Given the description of an element on the screen output the (x, y) to click on. 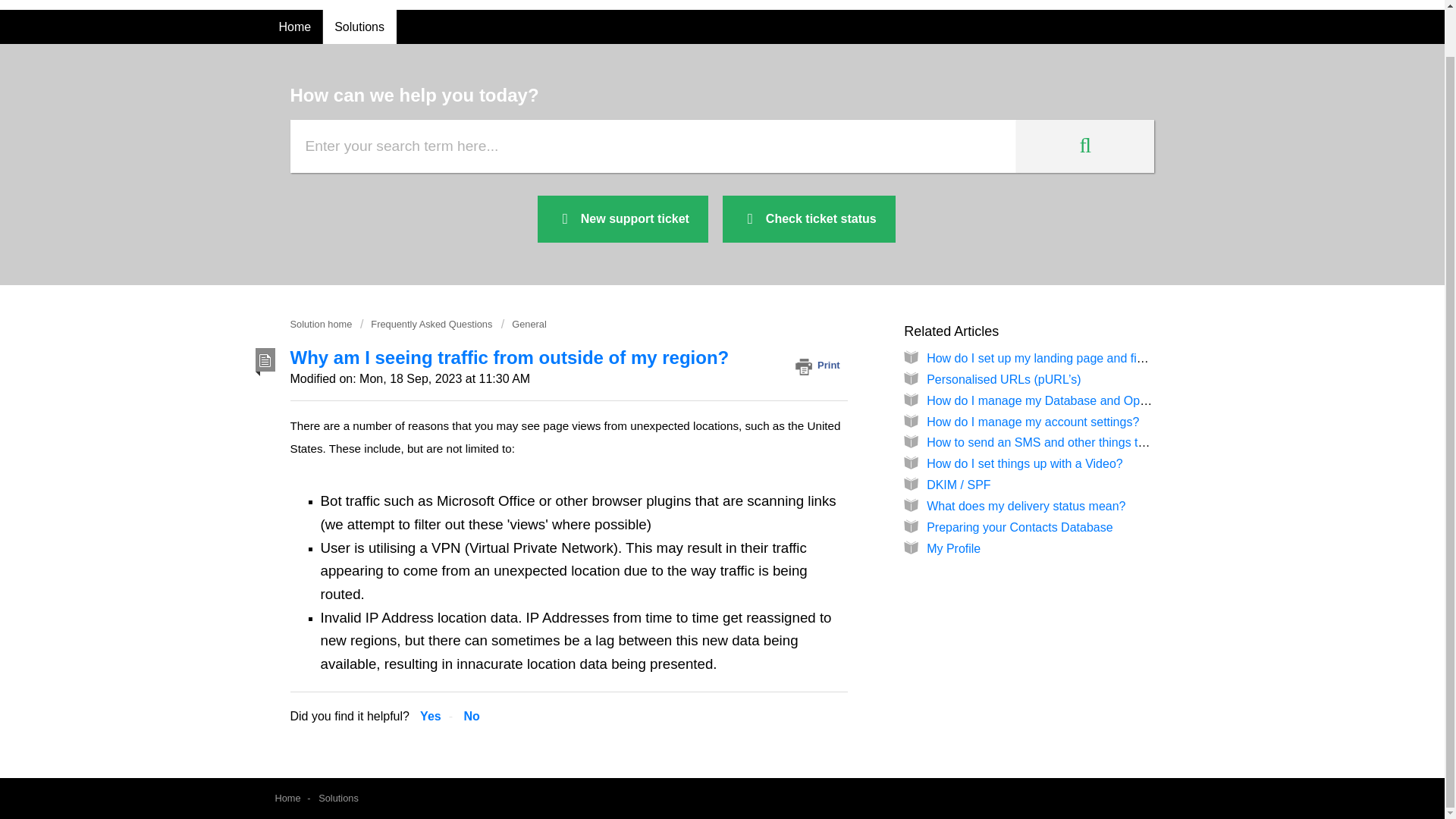
Print this Article (820, 365)
Frequently Asked Questions (426, 324)
How do I set things up with a Video? (1024, 463)
What does my delivery status mean? (1025, 505)
Home (287, 797)
New support ticket (622, 219)
Preparing your Contacts Database (1019, 526)
Home (294, 26)
Solution home (321, 324)
Print (820, 365)
Solutions (338, 797)
Solutions (359, 26)
Check ticket status (808, 219)
Check ticket status (808, 219)
